Given the description of an element on the screen output the (x, y) to click on. 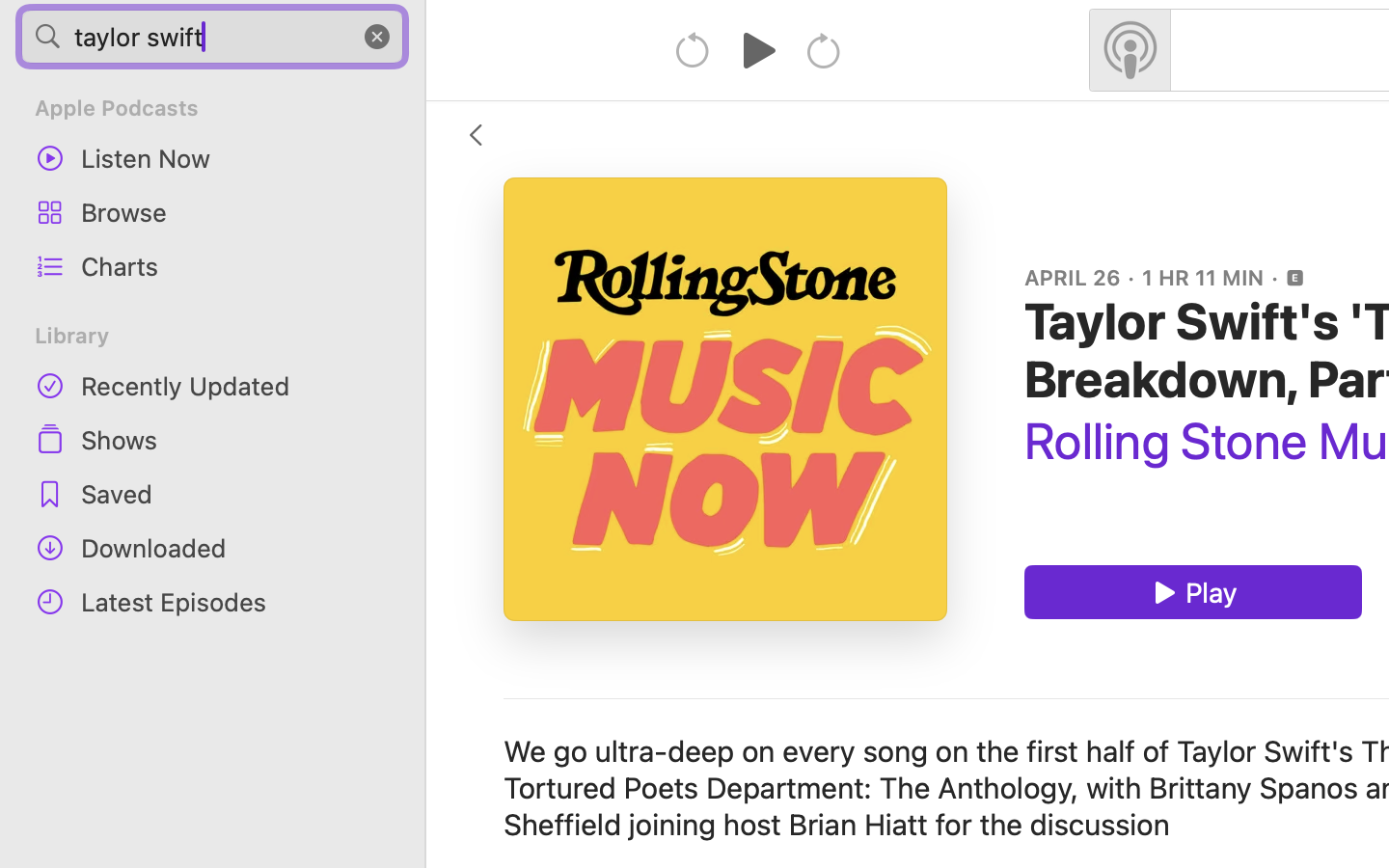
taylor swift Element type: AXTextField (212, 36)
Playback Progress 0% Element type: AXImage (725, 399)
